Given the description of an element on the screen output the (x, y) to click on. 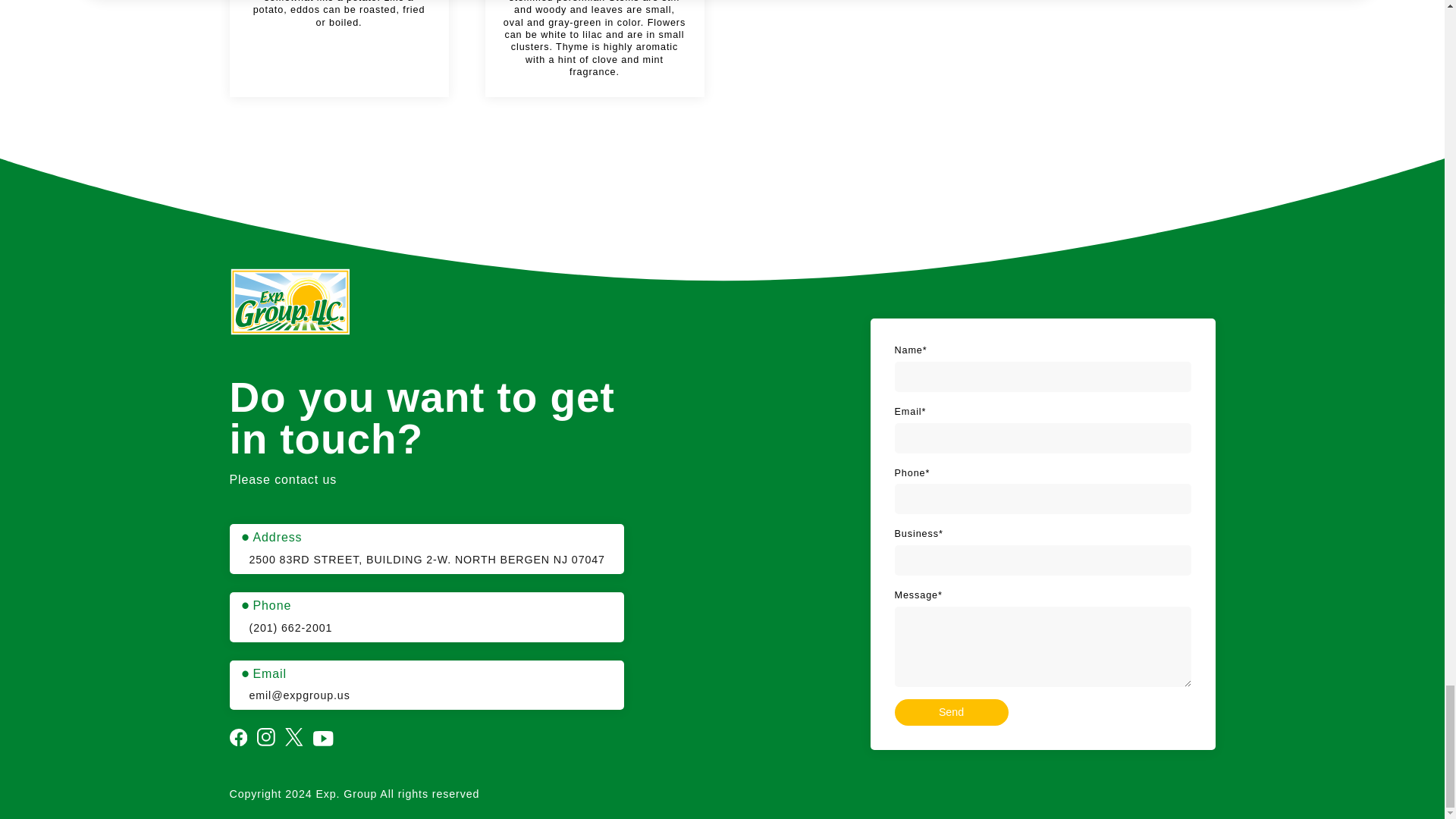
Send (952, 712)
